Given the description of an element on the screen output the (x, y) to click on. 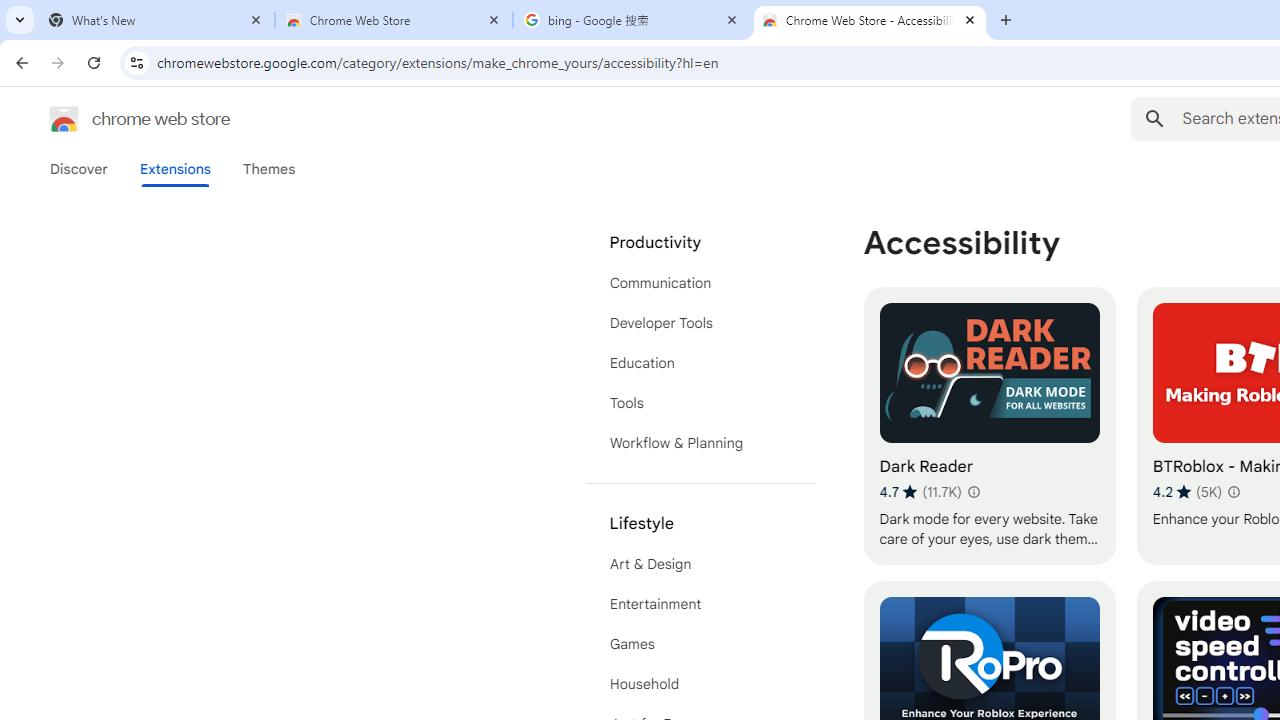
View site information (136, 62)
Extensions (174, 169)
Average rating 4.7 out of 5 stars. 11.7K ratings. (920, 491)
Themes (269, 169)
Art & Design (700, 563)
Average rating 4.2 out of 5 stars. 5K ratings. (1187, 491)
Dark Reader (989, 426)
Chrome Web Store logo chrome web store (118, 118)
Reload (93, 62)
Developer Tools (700, 322)
Entertainment (700, 603)
Household (700, 683)
Search tabs (20, 20)
Chrome Web Store (394, 20)
